Given the description of an element on the screen output the (x, y) to click on. 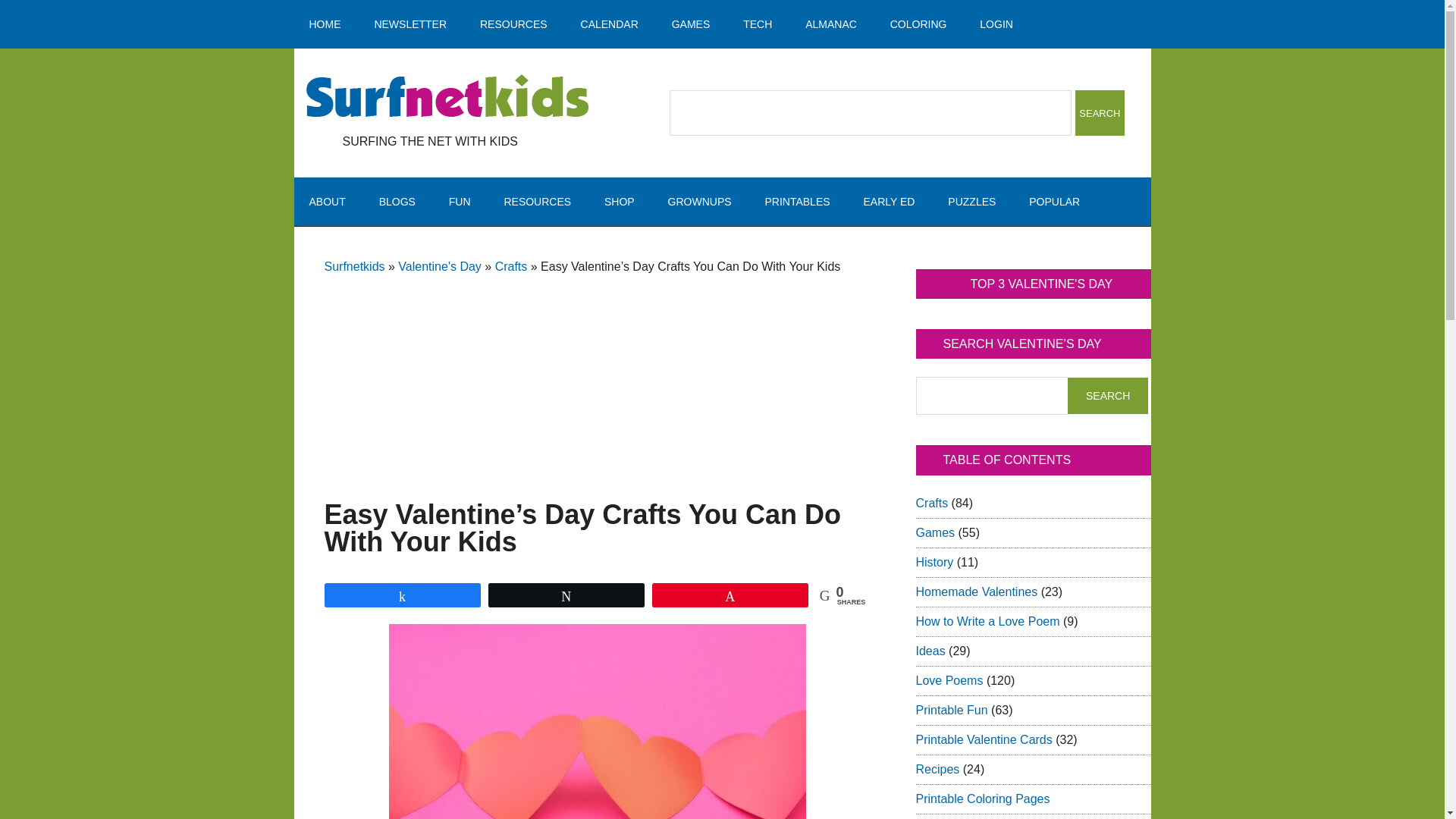
TECH (757, 24)
Search (1099, 112)
SHOP (619, 201)
GAMES (690, 24)
CALENDAR (609, 24)
NEWSLETTER (409, 24)
FUN (459, 201)
ALMANAC (831, 24)
ABOUT (327, 201)
LOGIN (995, 24)
RESOURCES (536, 201)
Search (1107, 395)
Advertisement (597, 369)
Search (1099, 112)
Surfing the Net with Kids (446, 97)
